Given the description of an element on the screen output the (x, y) to click on. 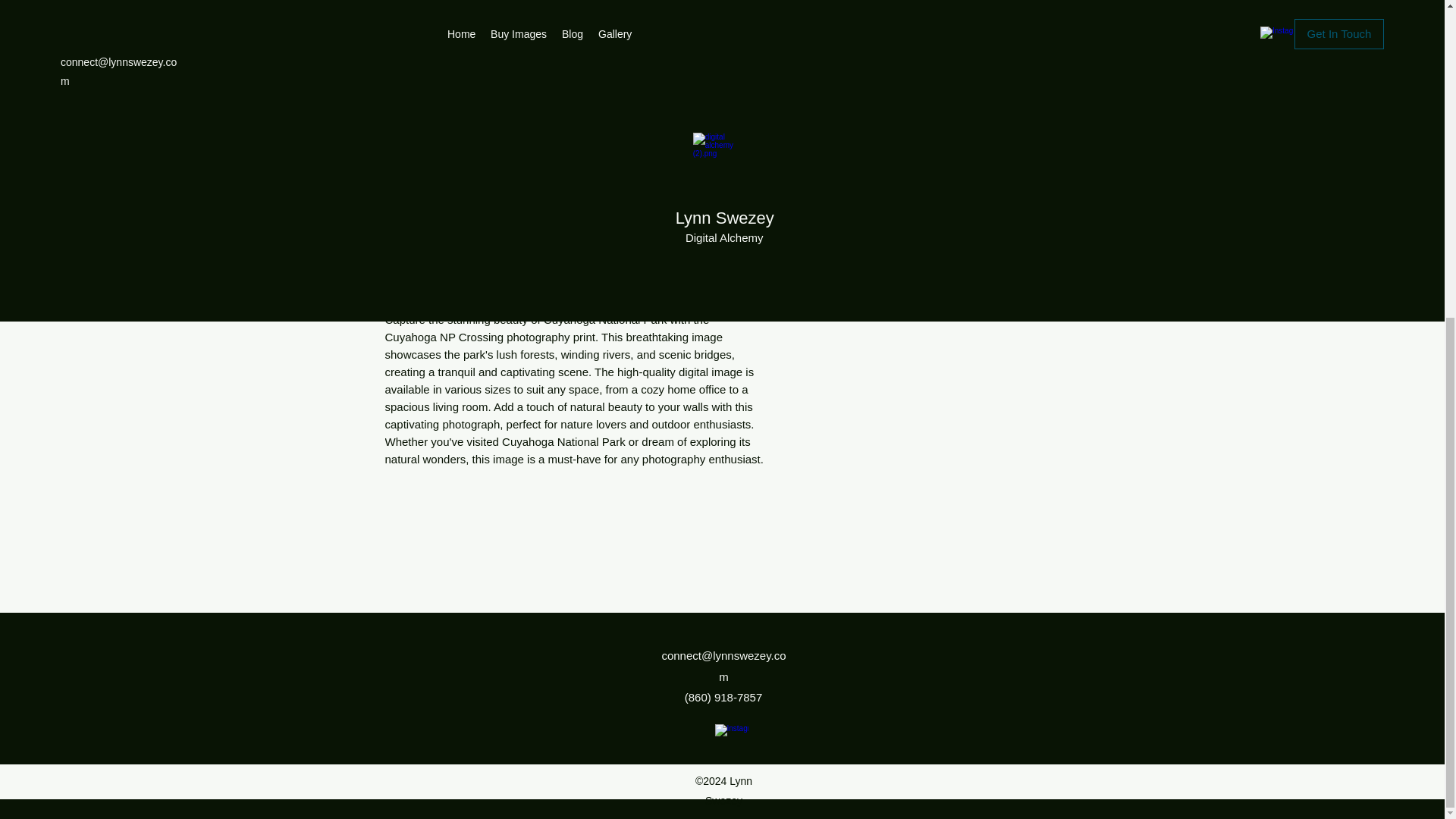
Add to Cart (924, 107)
